Given the description of an element on the screen output the (x, y) to click on. 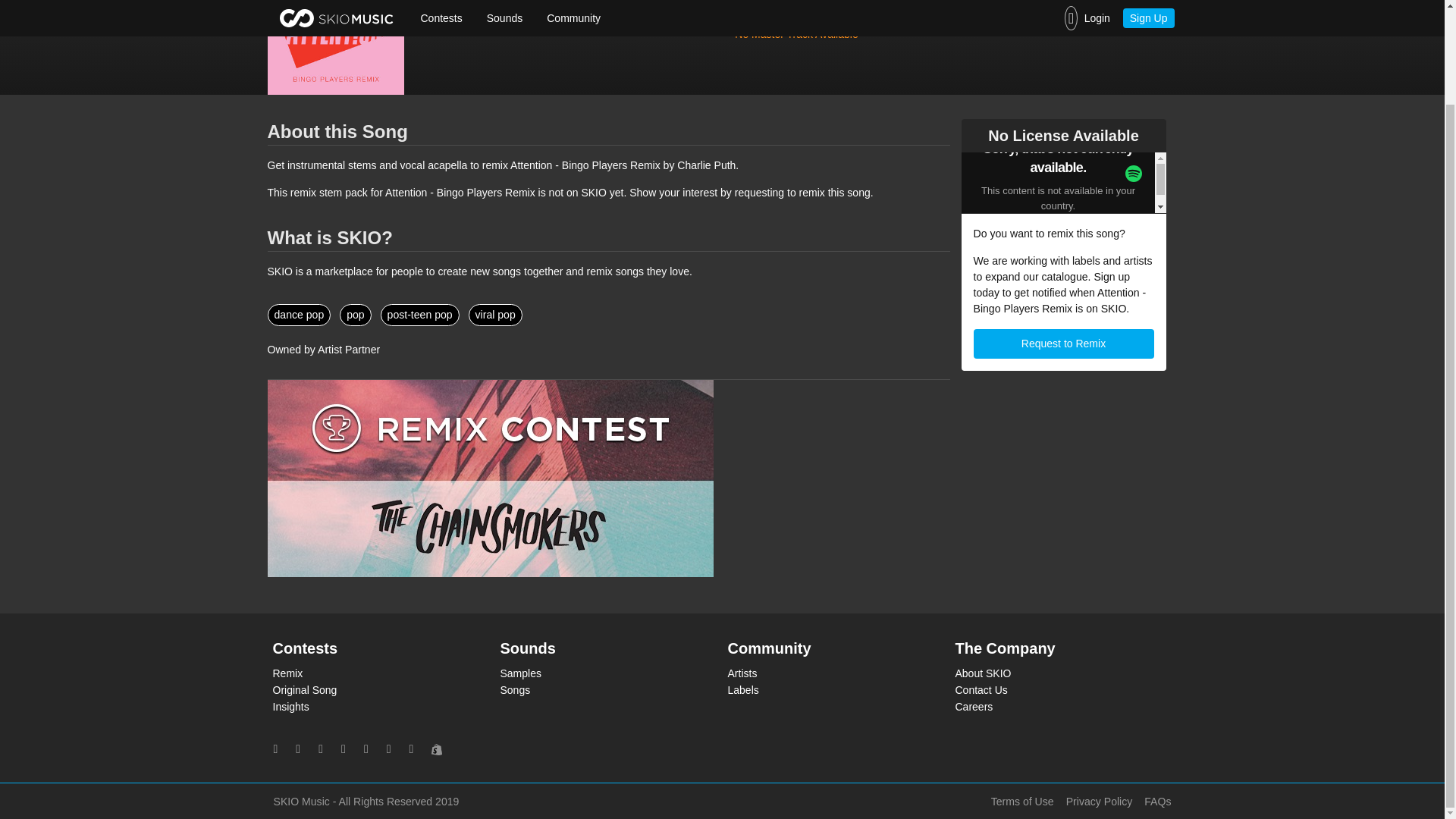
post-teen pop (420, 314)
pop (355, 314)
dance pop (298, 314)
Request to Remix (1064, 344)
viral pop (495, 314)
